Given the description of an element on the screen output the (x, y) to click on. 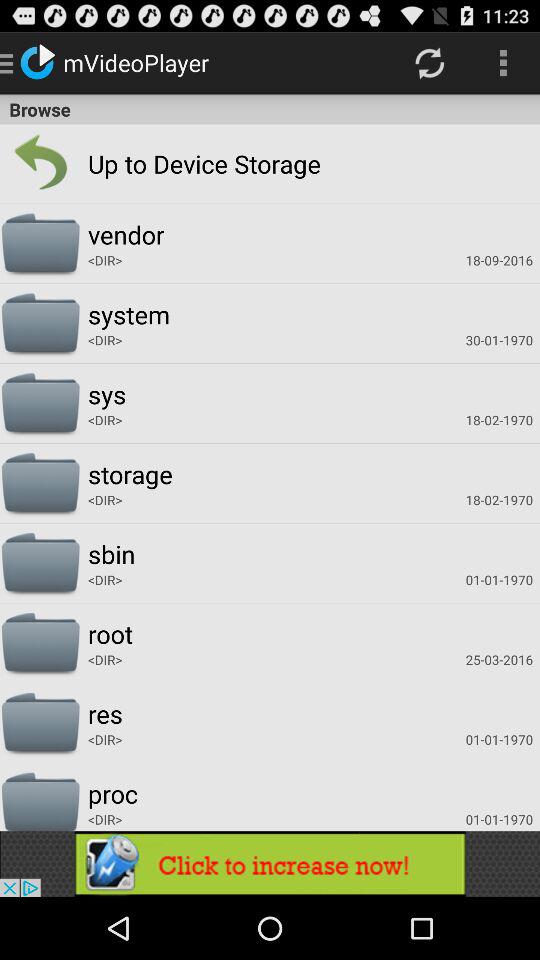
jump to the up to storage app (163, 163)
